Given the description of an element on the screen output the (x, y) to click on. 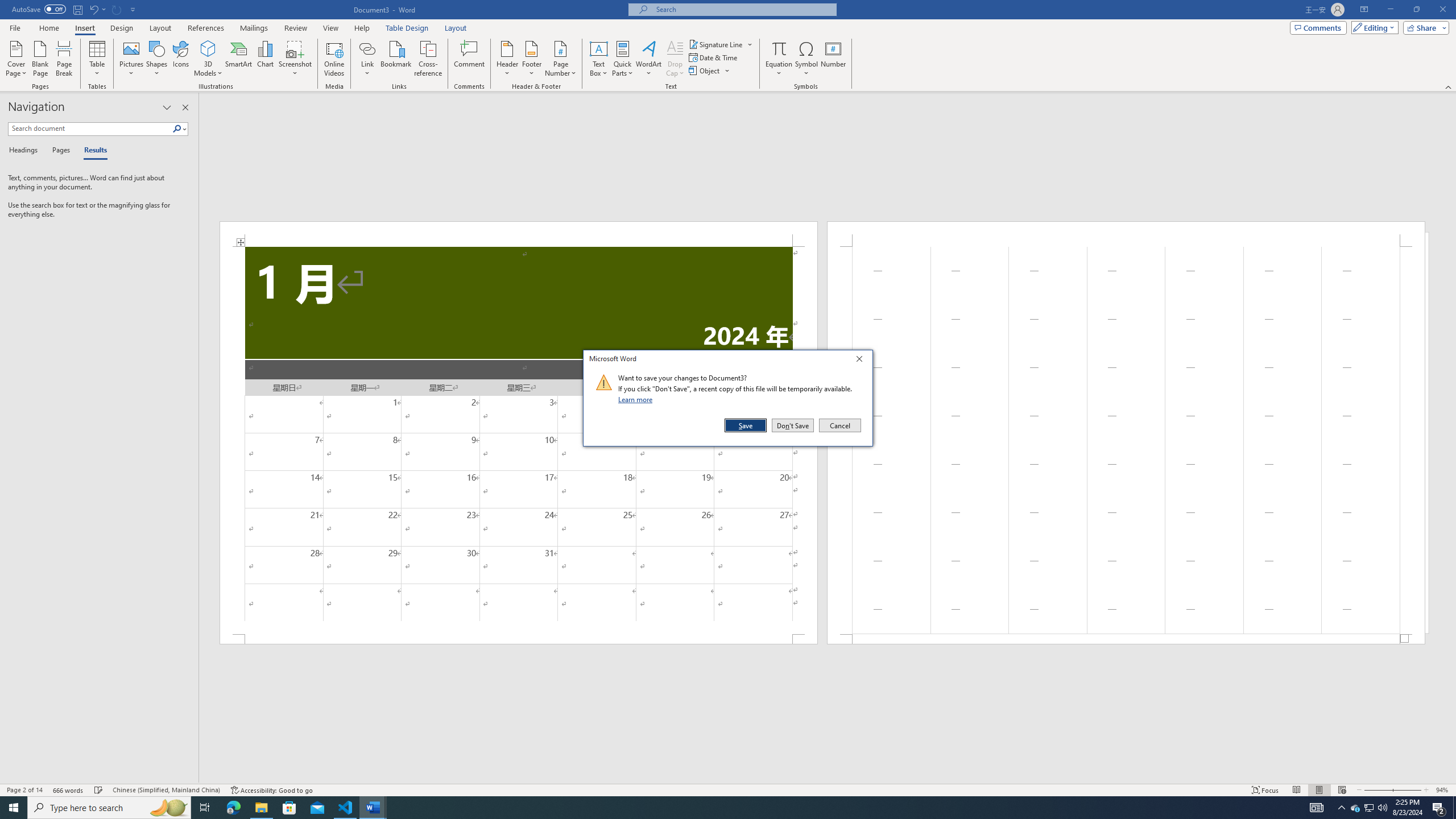
Screenshot (295, 58)
Text Box (598, 58)
Cancel (839, 425)
Learn more (636, 399)
User Promoted Notification Area (1368, 807)
Microsoft Edge (233, 807)
Can't Repeat (117, 9)
